Given the description of an element on the screen output the (x, y) to click on. 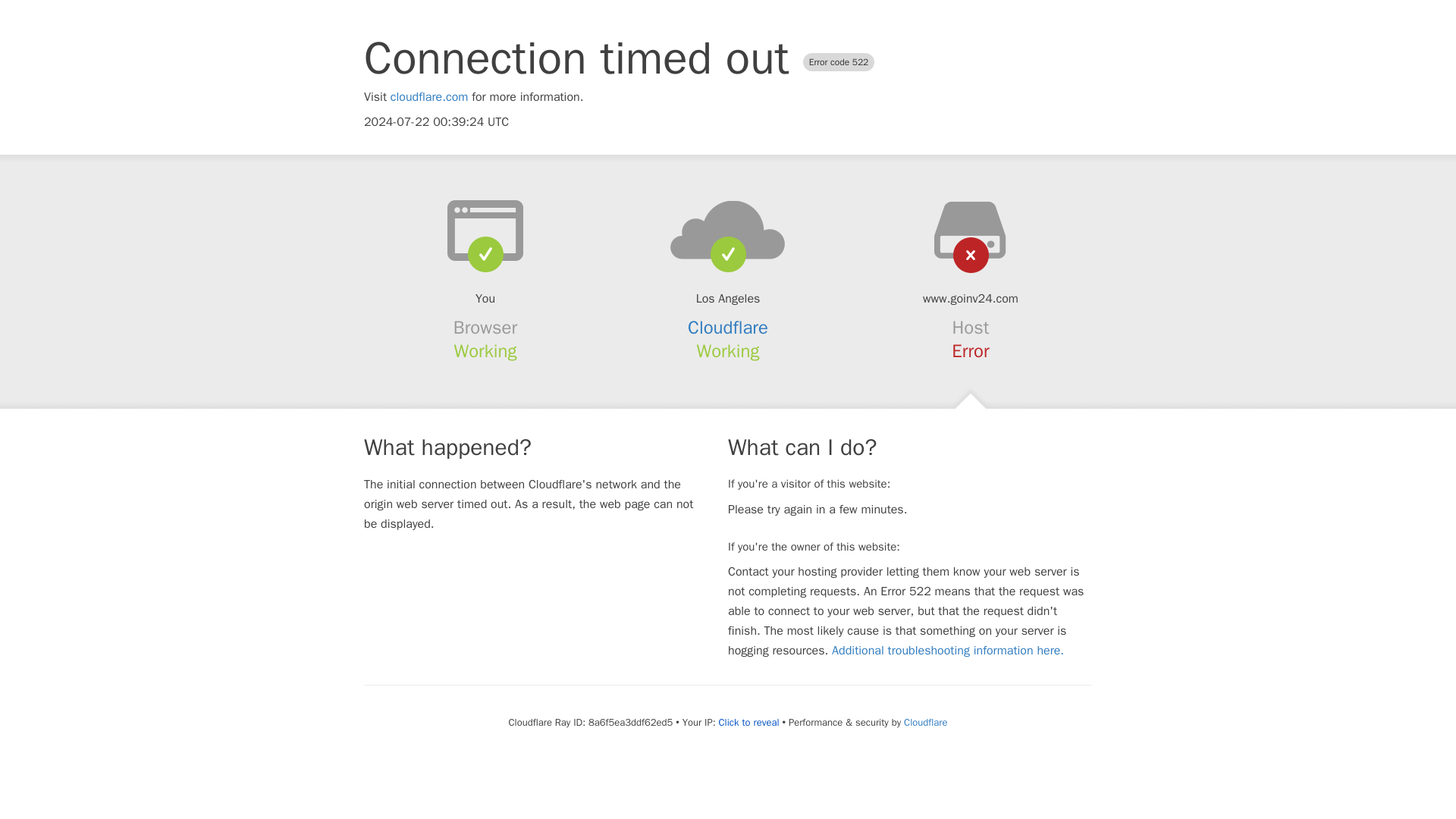
Click to reveal (748, 722)
Cloudflare (727, 327)
Additional troubleshooting information here. (947, 650)
cloudflare.com (429, 96)
Cloudflare (925, 721)
